Given the description of an element on the screen output the (x, y) to click on. 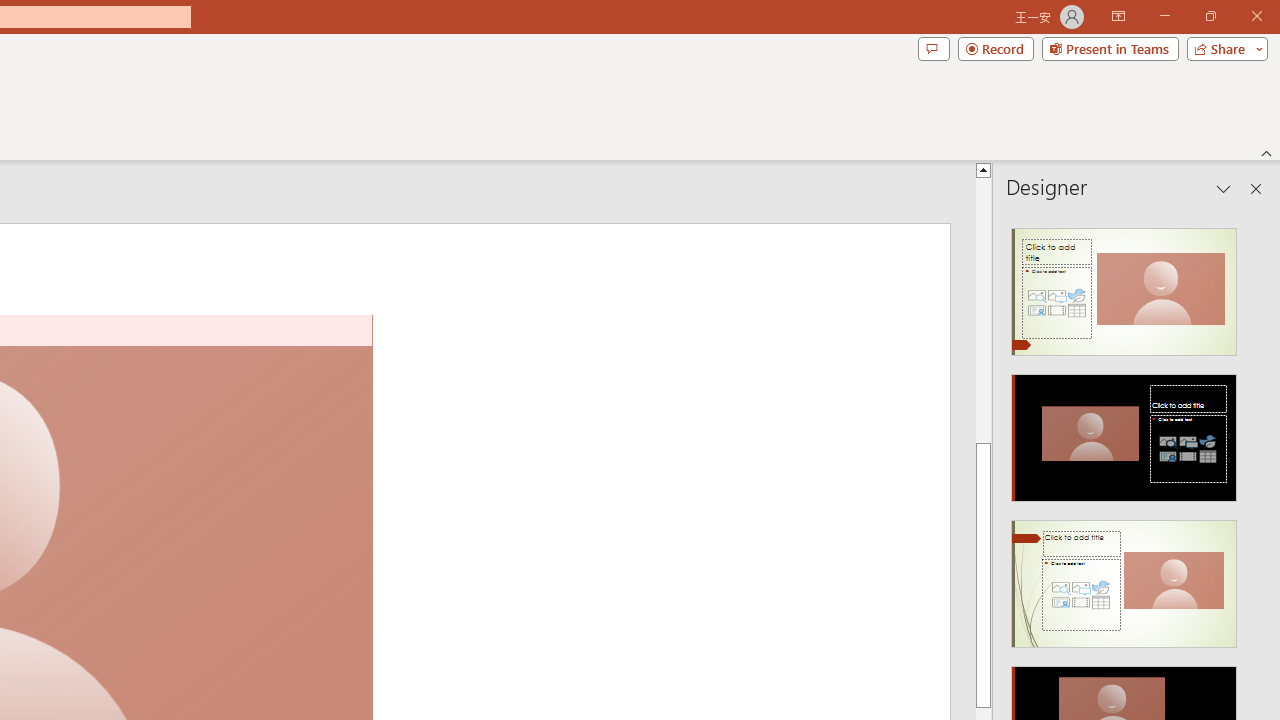
Design Idea (1124, 577)
Recommended Design: Design Idea (1124, 286)
Page up (1271, 309)
